Given the description of an element on the screen output the (x, y) to click on. 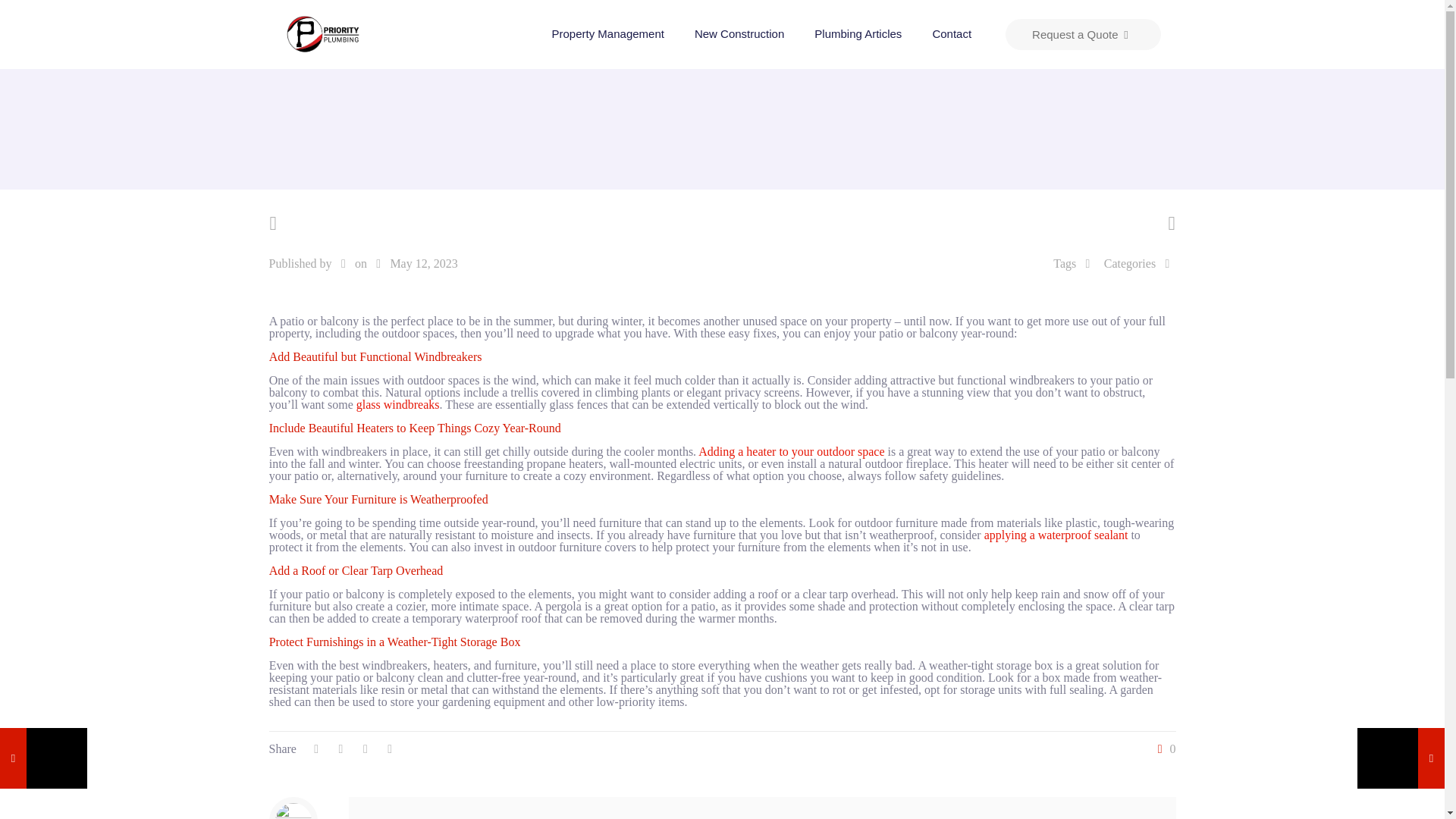
Plumbing Articles (858, 33)
0 (1162, 748)
Priority Plumbing Site (322, 33)
Contact (952, 33)
Adding a heater to your outdoor space (790, 451)
glass windbreaks (397, 404)
Property Management (608, 33)
Request a Quote (1083, 33)
New Construction (739, 33)
applying a waterproof sealant (1056, 534)
